Given the description of an element on the screen output the (x, y) to click on. 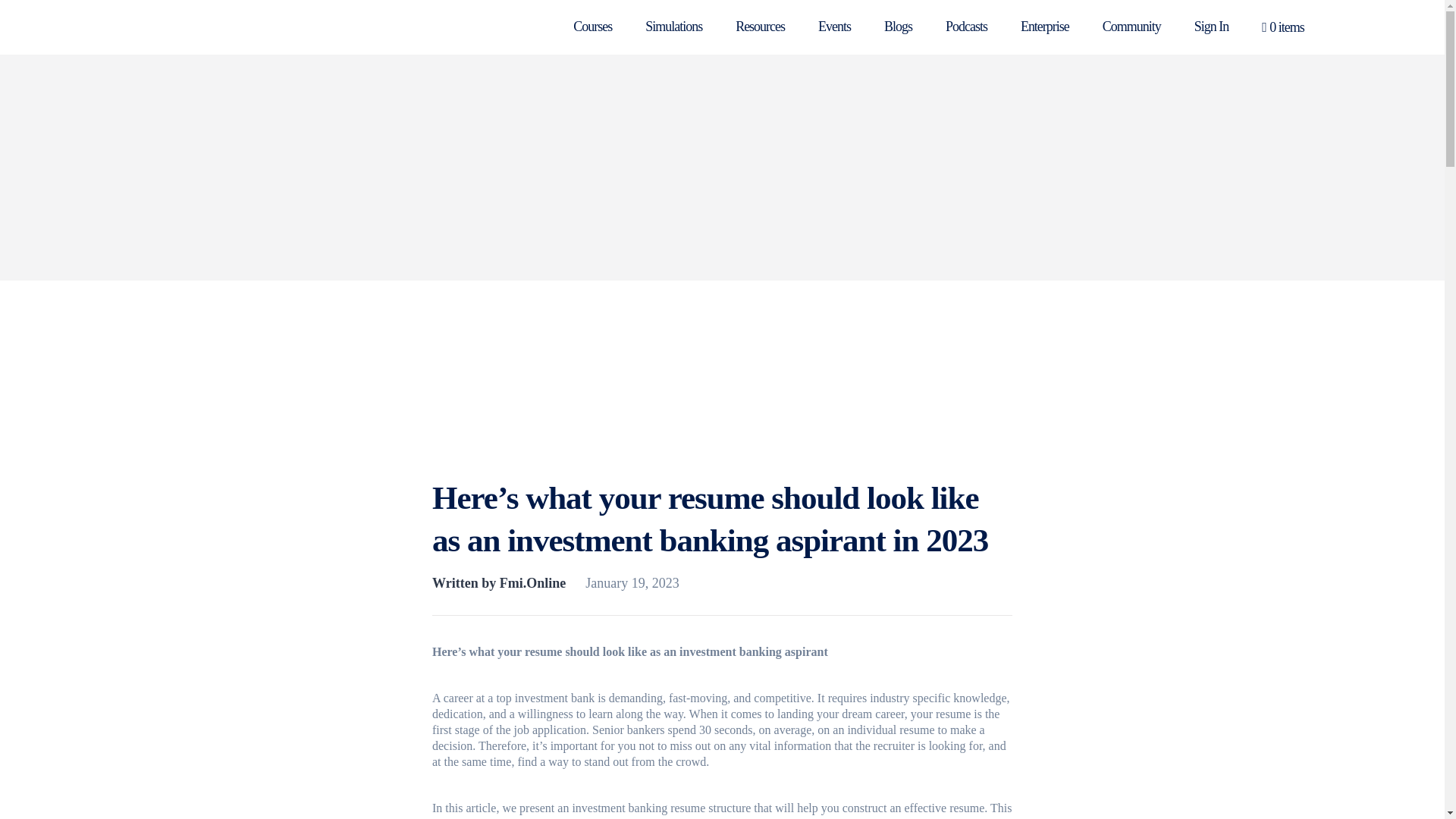
Blogs (897, 26)
Enterprise (1044, 26)
Events (834, 26)
Courses (592, 26)
Resources (759, 26)
Sign In (1210, 26)
my-account (1210, 26)
Podcasts (965, 26)
Community (1131, 26)
0 items (1283, 27)
